Given the description of an element on the screen output the (x, y) to click on. 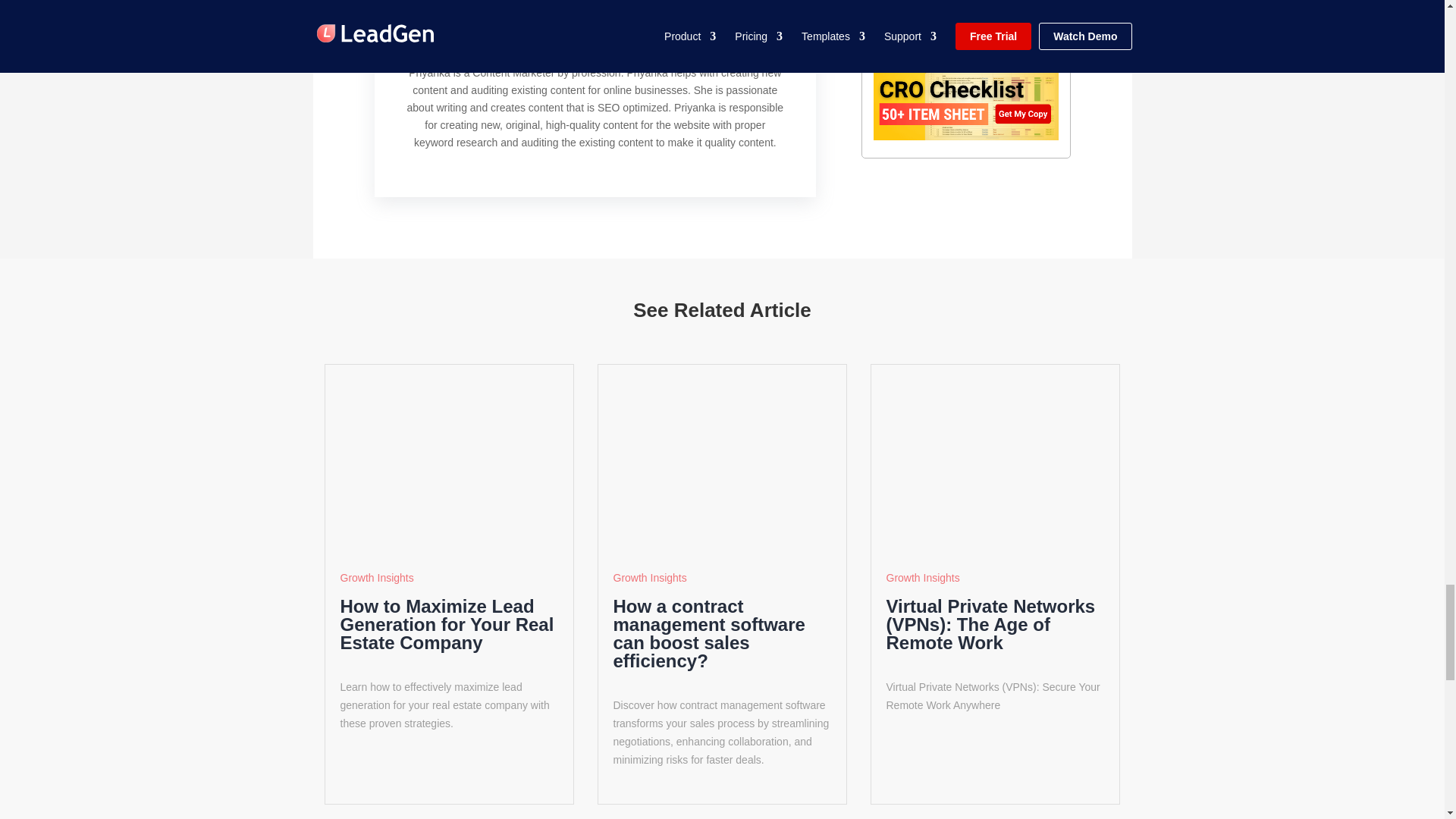
2222.png (720, 459)
Athar-7.png (994, 459)
